Given the description of an element on the screen output the (x, y) to click on. 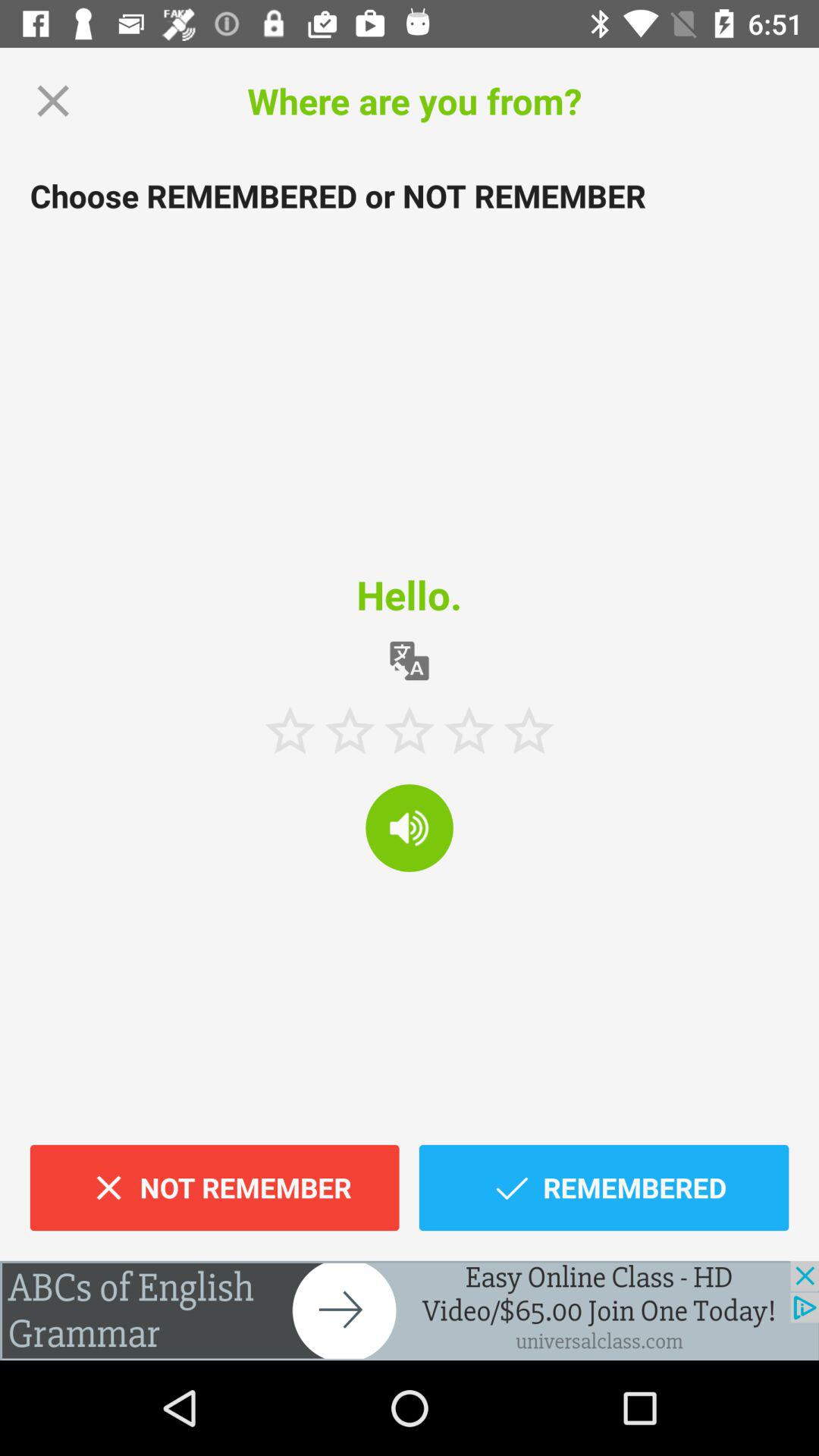
change volume (409, 827)
